Given the description of an element on the screen output the (x, y) to click on. 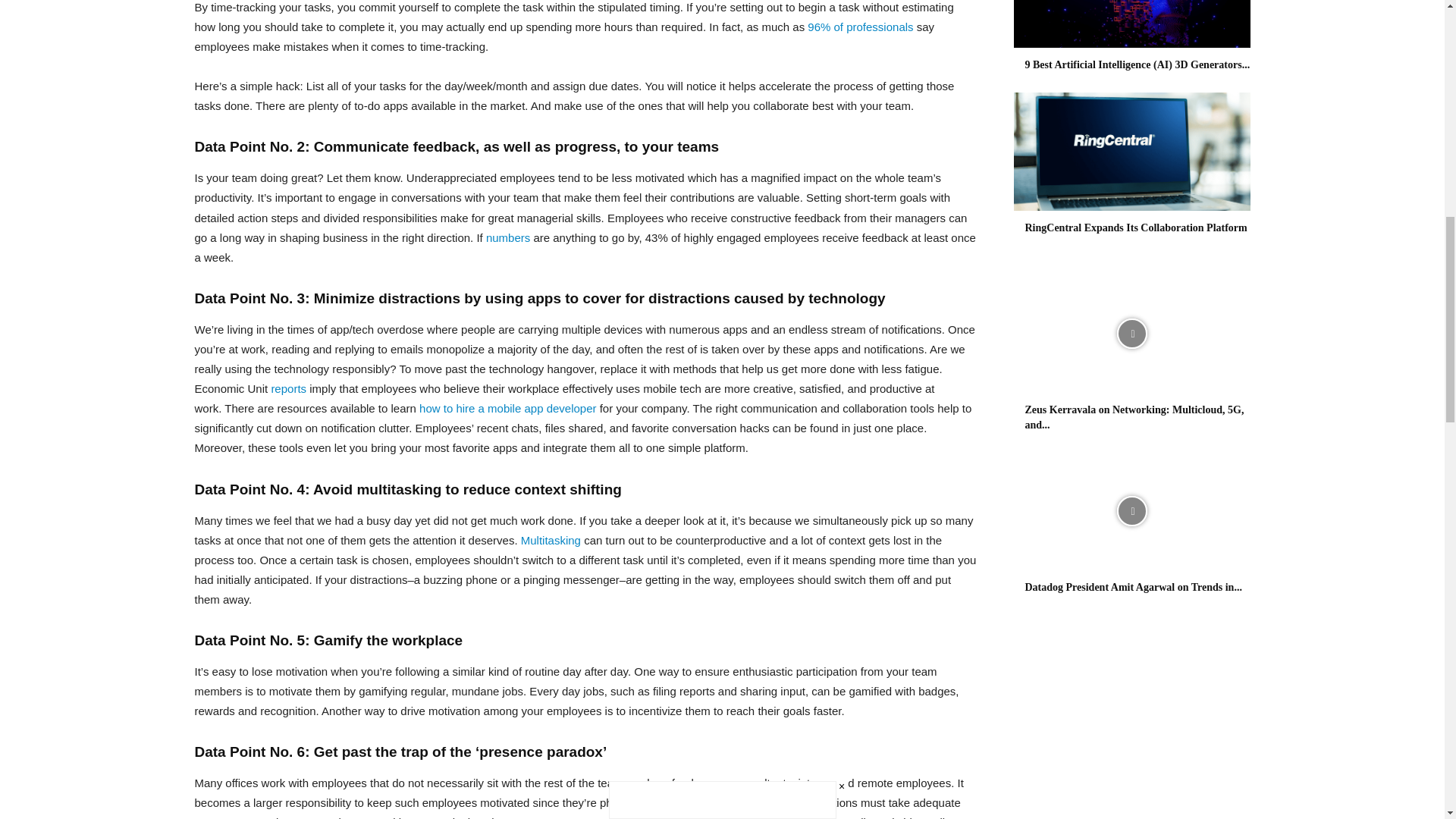
RingCentral Expands Its Collaboration Platform (1136, 227)
RingCentral Expands Its Collaboration Platform (1131, 151)
Zeus Kerravala on Networking: Multicloud, 5G, and Automation (1131, 333)
Zeus Kerravala on Networking: Multicloud, 5G, and Automation (1134, 417)
